Given the description of an element on the screen output the (x, y) to click on. 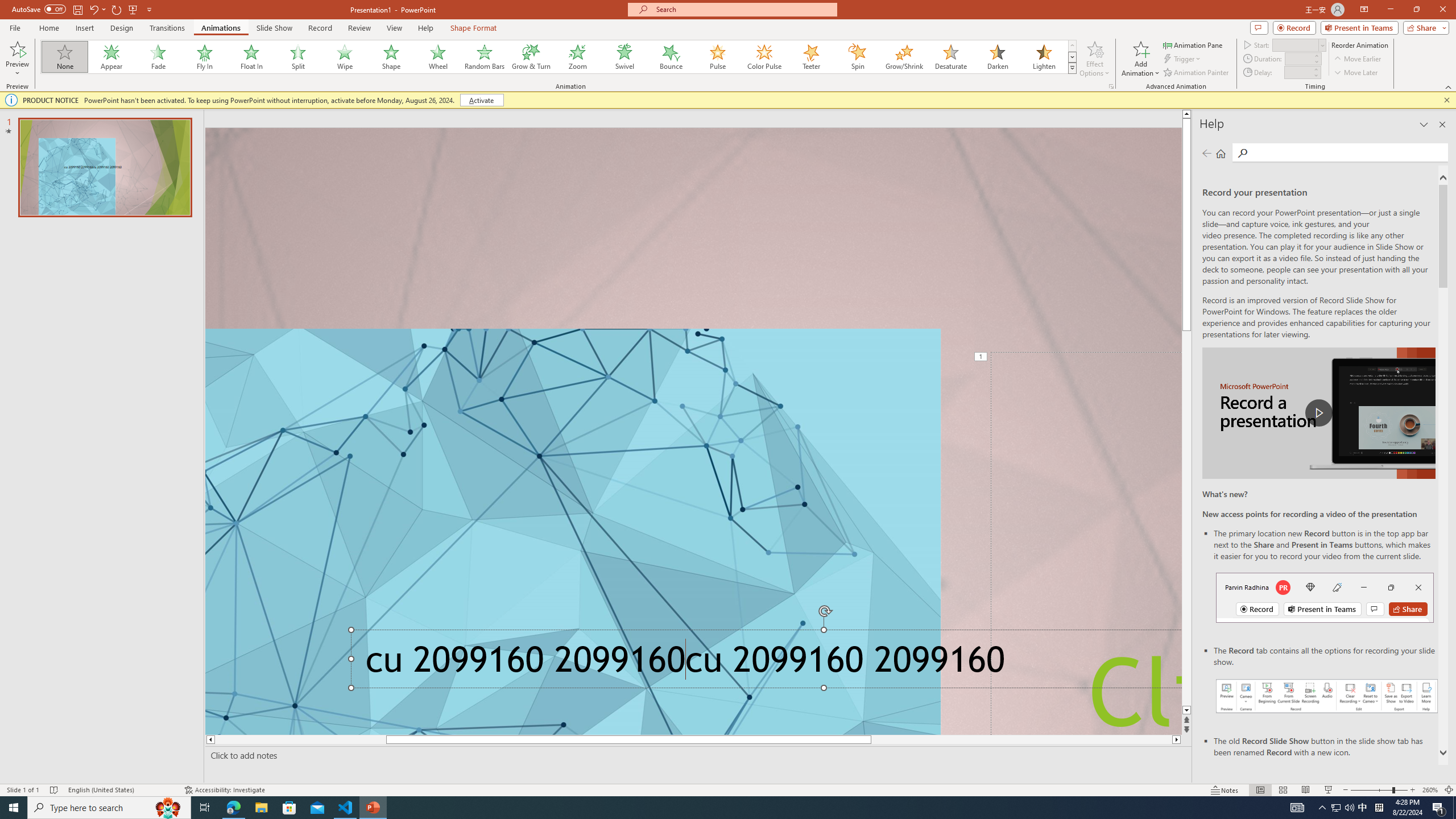
Random Bars (484, 56)
Fade (158, 56)
Grow & Turn (531, 56)
Spin (857, 56)
Grow/Shrink (903, 56)
